Given the description of an element on the screen output the (x, y) to click on. 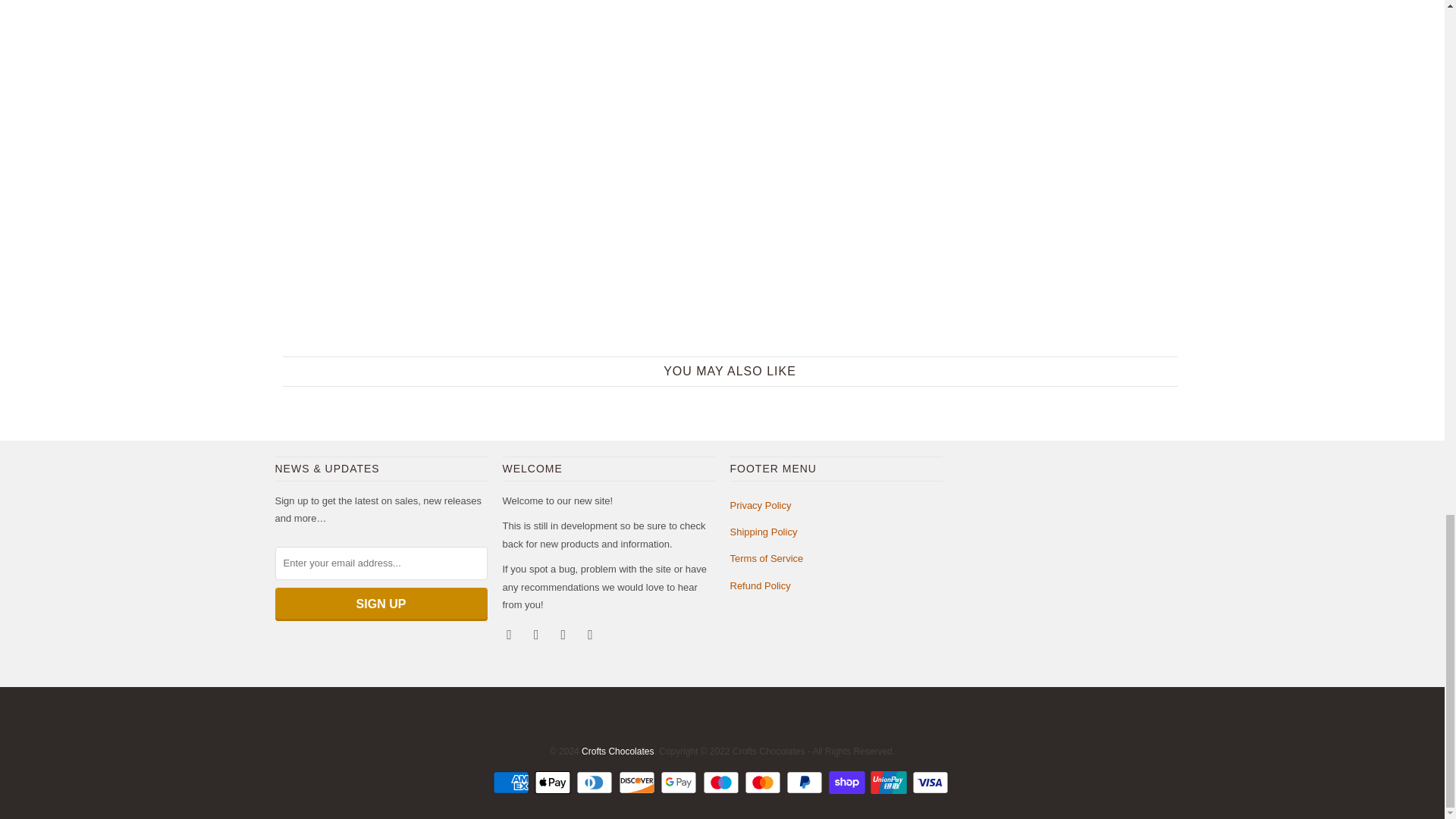
Visa (932, 782)
PayPal (805, 782)
Crofts Chocolates on Facebook (537, 633)
American Express (512, 782)
Crofts Chocolates on Twitter (510, 633)
Diners Club (595, 782)
Google Pay (680, 782)
Union Pay (890, 782)
Sign Up (380, 604)
Apple Pay (553, 782)
Maestro (721, 782)
Crofts Chocolates on Instagram (564, 633)
Shop Pay (847, 782)
Mastercard (764, 782)
Discover (638, 782)
